Given the description of an element on the screen output the (x, y) to click on. 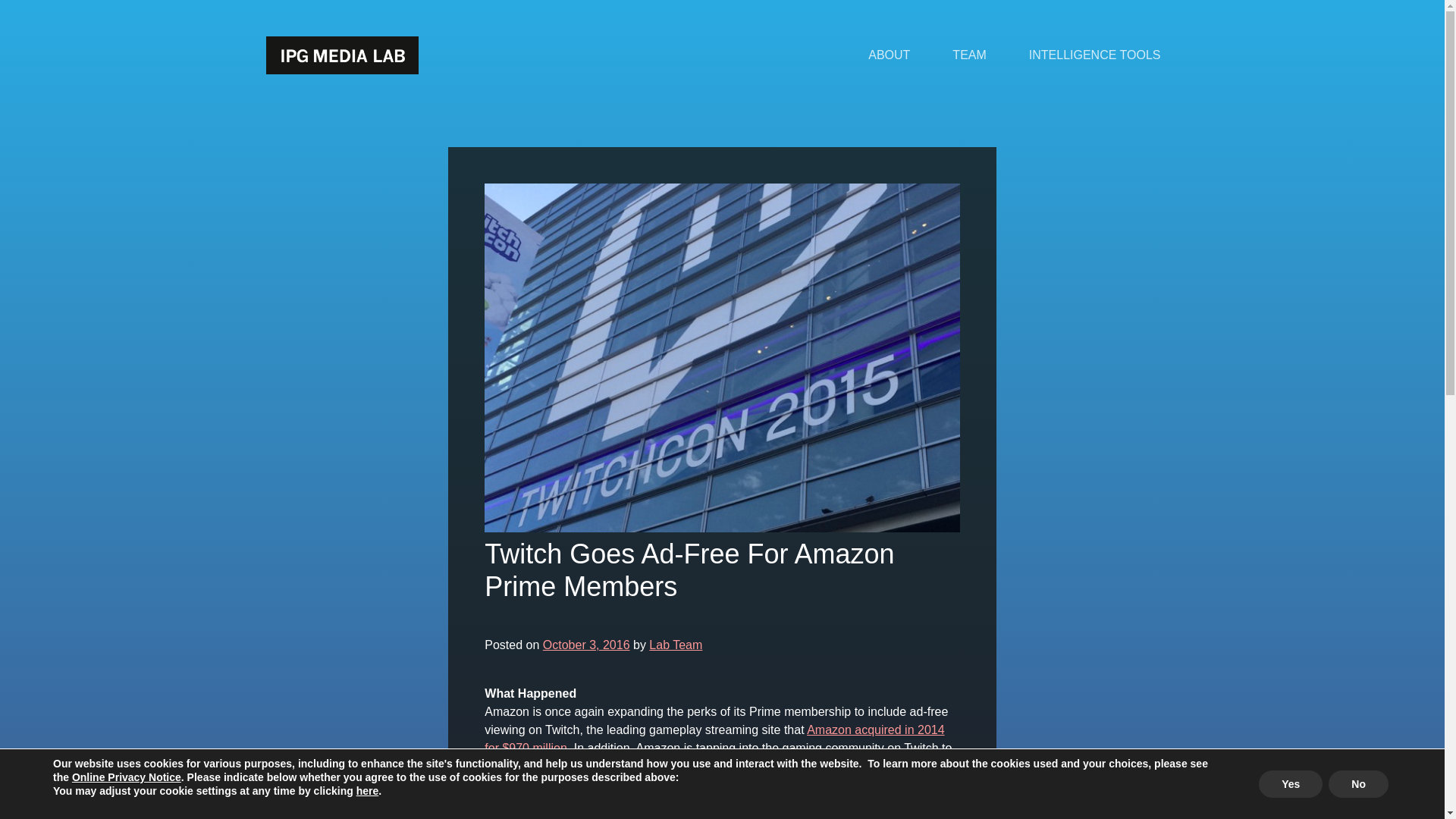
ABOUT (889, 55)
IPG Media Lab (340, 55)
October 3, 2016 (586, 644)
INTELLIGENCE TOOLS (1094, 55)
Online Privacy Notice (125, 776)
TEAM (969, 55)
Lab Team (675, 644)
Yes (1290, 783)
No (1358, 783)
